Given the description of an element on the screen output the (x, y) to click on. 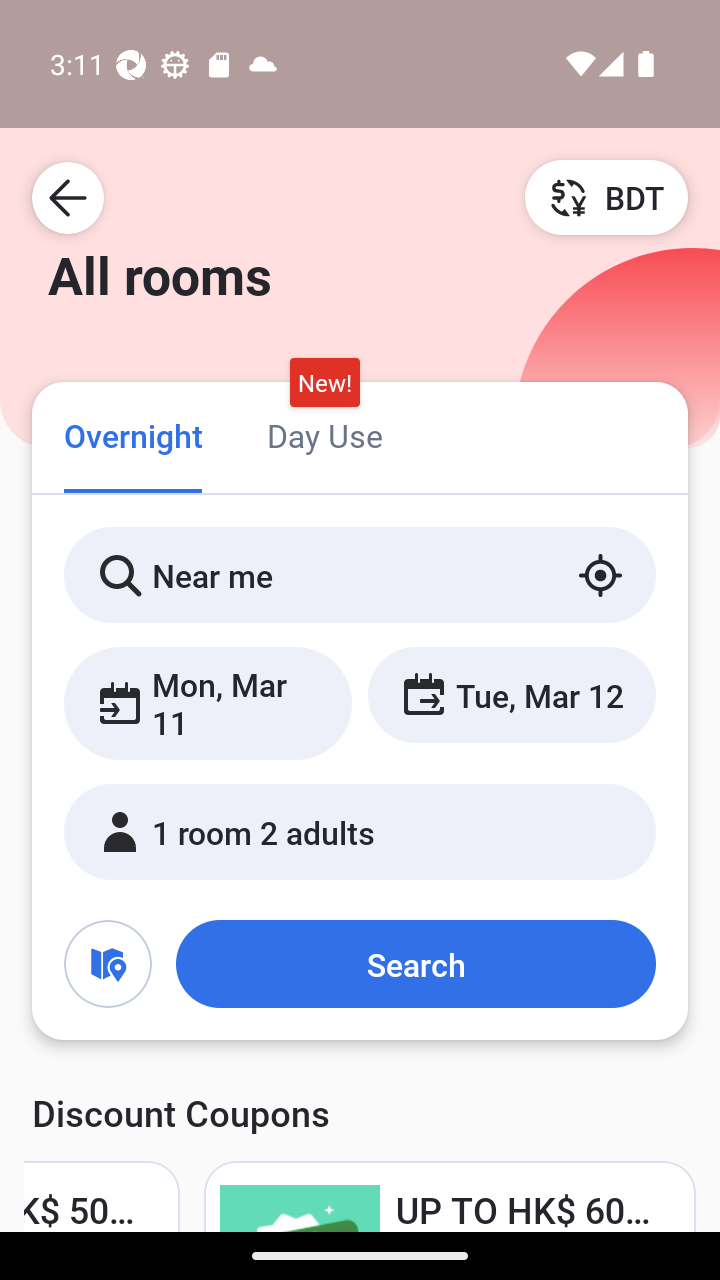
BDT (606, 197)
New! (324, 383)
Day Use (324, 434)
Near me (359, 575)
Mon, Mar 11 (208, 703)
Tue, Mar 12 (511, 694)
1 room 2 adults (359, 831)
Search (415, 964)
